Given the description of an element on the screen output the (x, y) to click on. 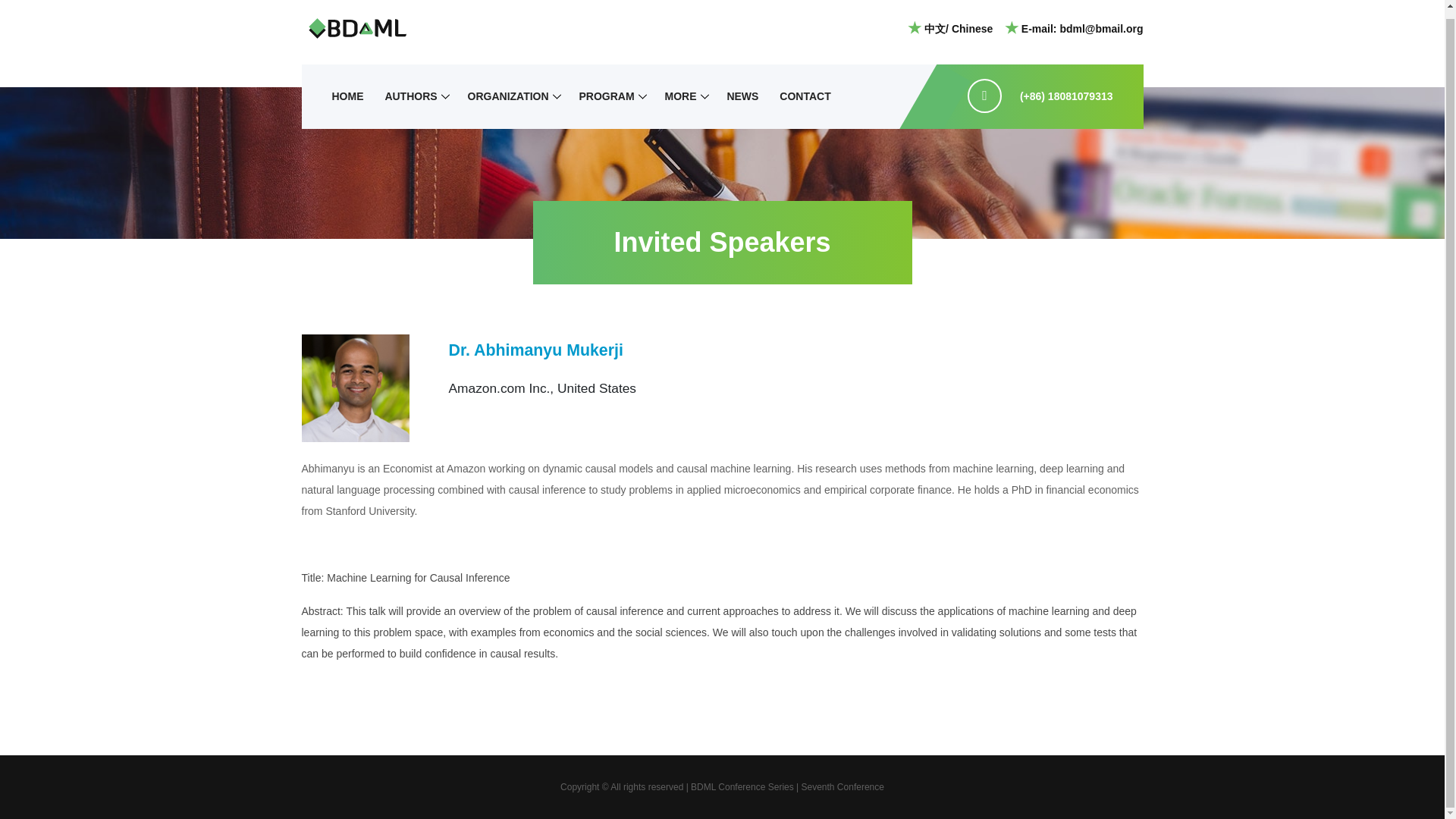
MORE (679, 96)
PROGRAM (606, 96)
AUTHORS (410, 96)
NEWS (742, 96)
ORGANIZATION (507, 96)
CONTACT (805, 96)
HOME (347, 96)
